Given the description of an element on the screen output the (x, y) to click on. 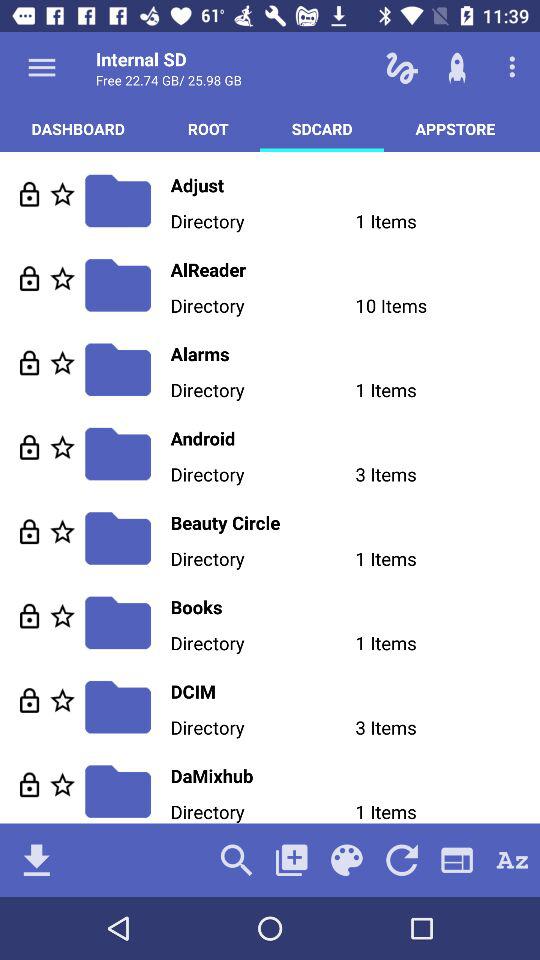
swipe to damixhub item (355, 775)
